Given the description of an element on the screen output the (x, y) to click on. 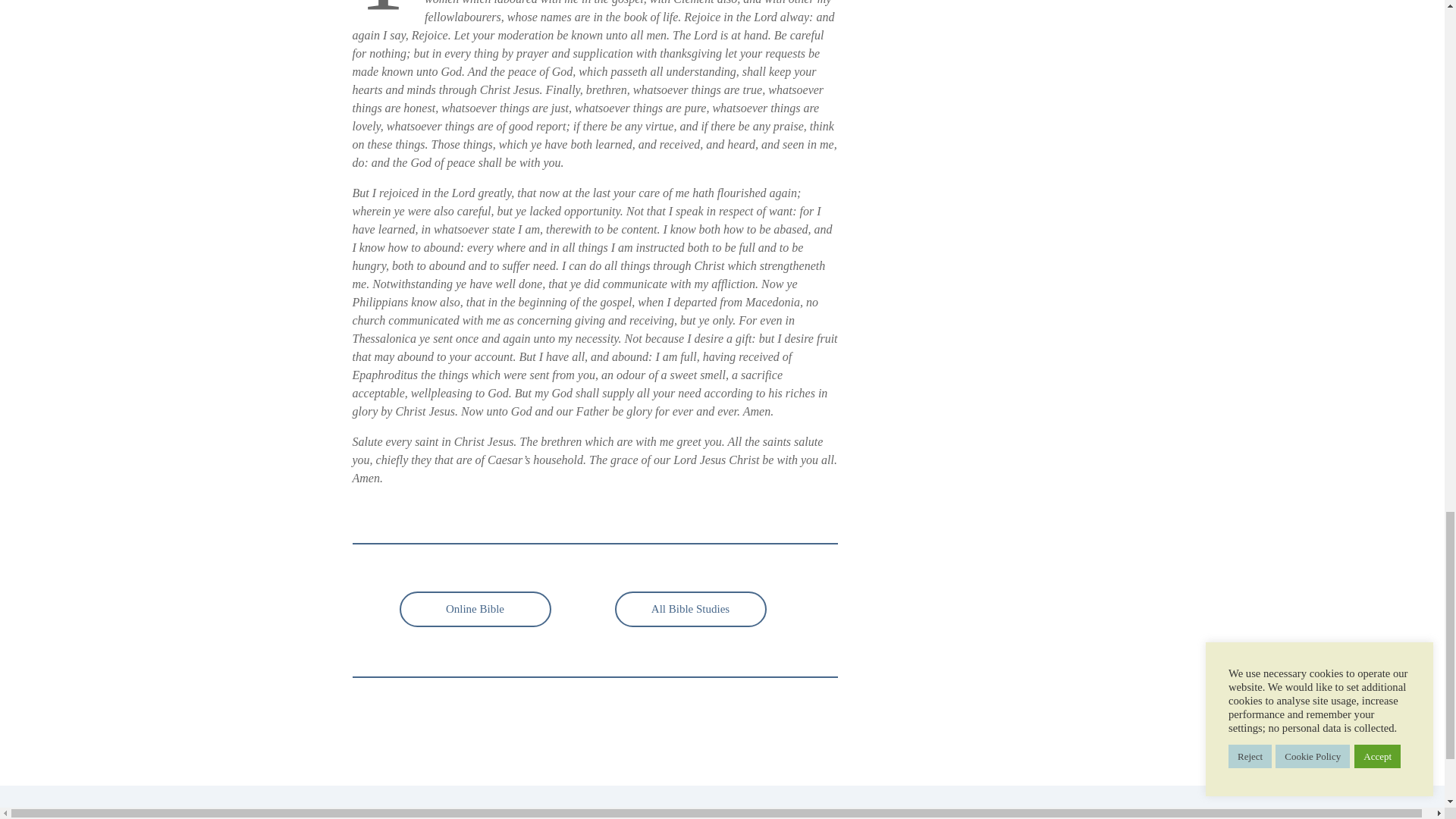
All Bible Studies (689, 609)
Online Bible (474, 609)
